Given the description of an element on the screen output the (x, y) to click on. 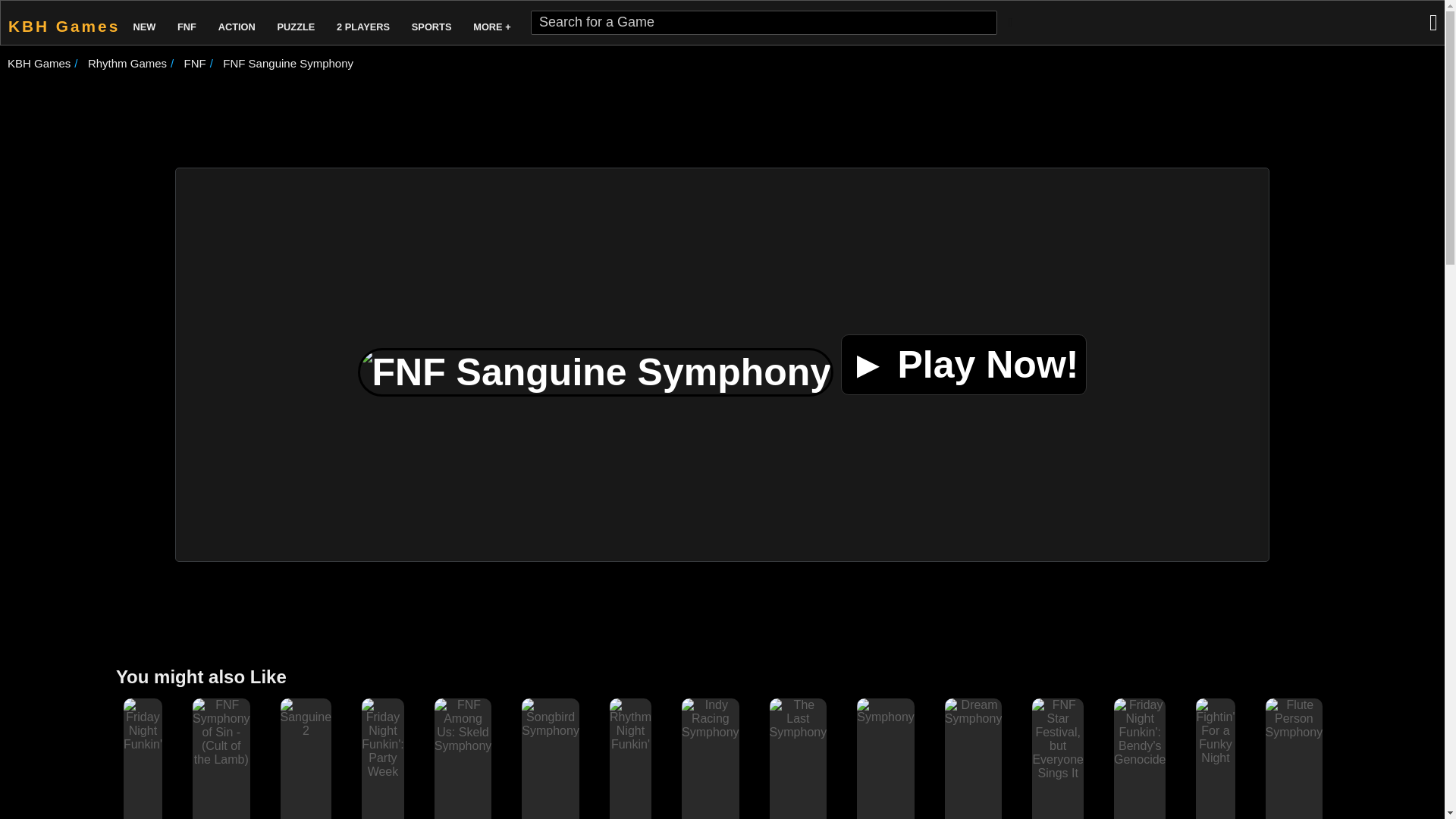
Symphony (885, 710)
Songbird Symphony (550, 717)
FNF (195, 62)
SPORTS (432, 22)
2 PLAYERS (363, 22)
Friday Night Funkin' (142, 744)
Dream Symphony (973, 711)
Flute Person Symphony (1294, 718)
The Last Symphony (798, 718)
ACTION (237, 22)
